Given the description of an element on the screen output the (x, y) to click on. 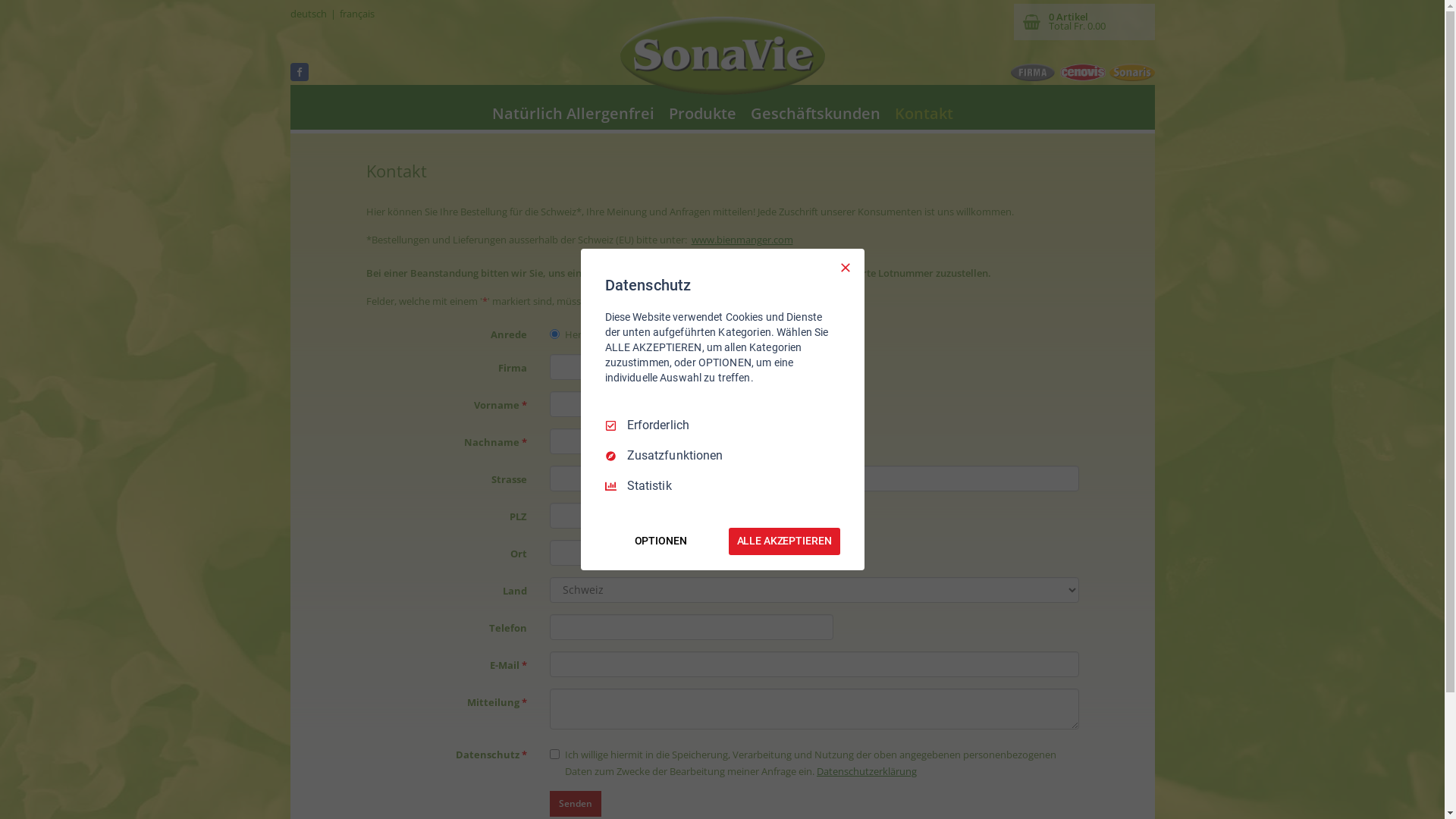
OPTIONEN Element type: text (660, 541)
www.bienmanger.com Element type: text (742, 239)
Cenovis Element type: hover (1082, 72)
Kontakt Element type: text (923, 112)
Sonaris Element type: hover (1131, 72)
Produkte Element type: text (702, 112)
Firma Element type: hover (1032, 72)
deutsch Element type: text (307, 13)
ALLE AKZEPTIEREN Element type: text (783, 541)
Senden Element type: text (575, 803)
